Given the description of an element on the screen output the (x, y) to click on. 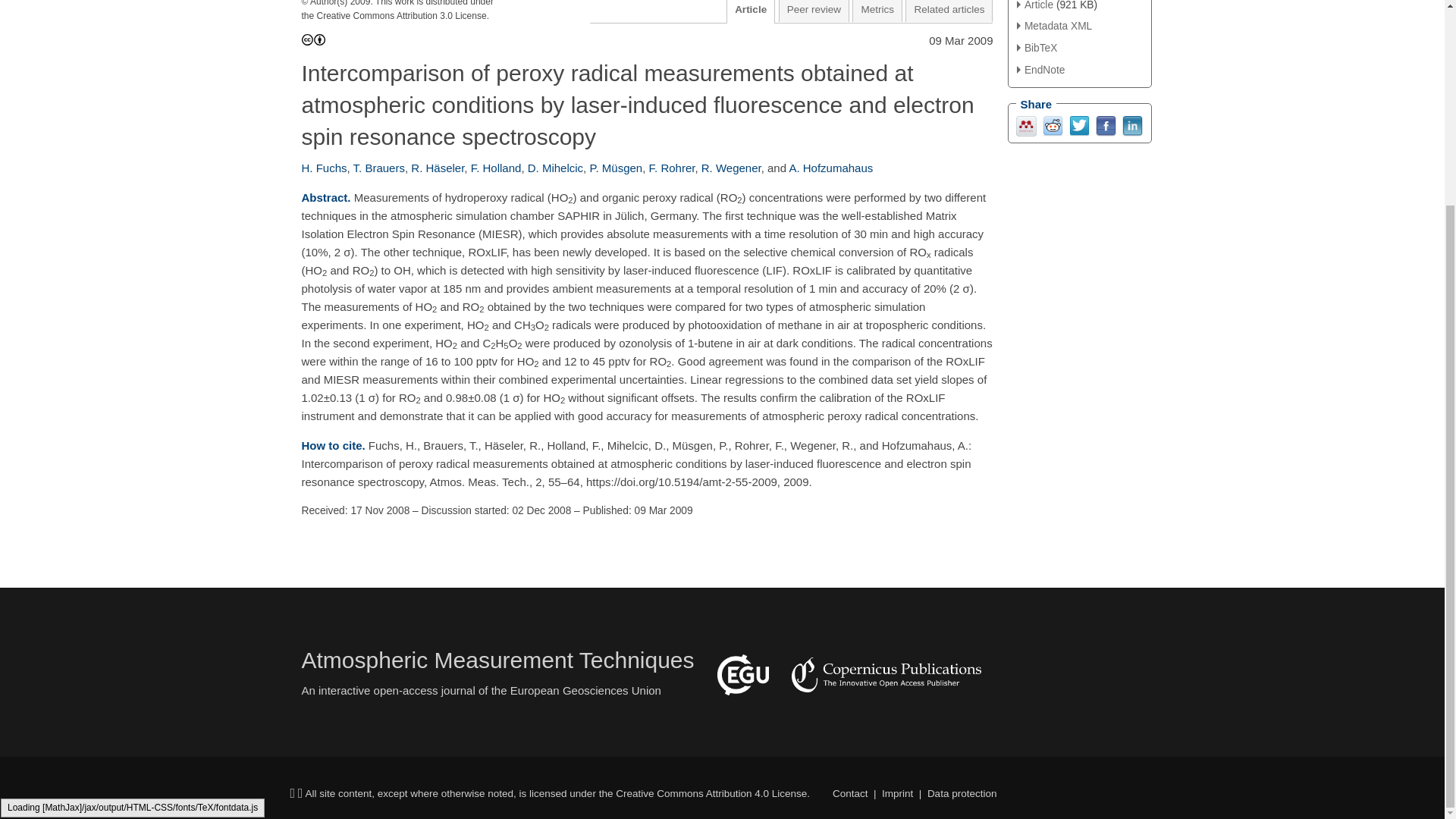
Reddit (1052, 124)
XML Version (1054, 25)
Twitter (1078, 124)
Mendeley (1026, 124)
